Given the description of an element on the screen output the (x, y) to click on. 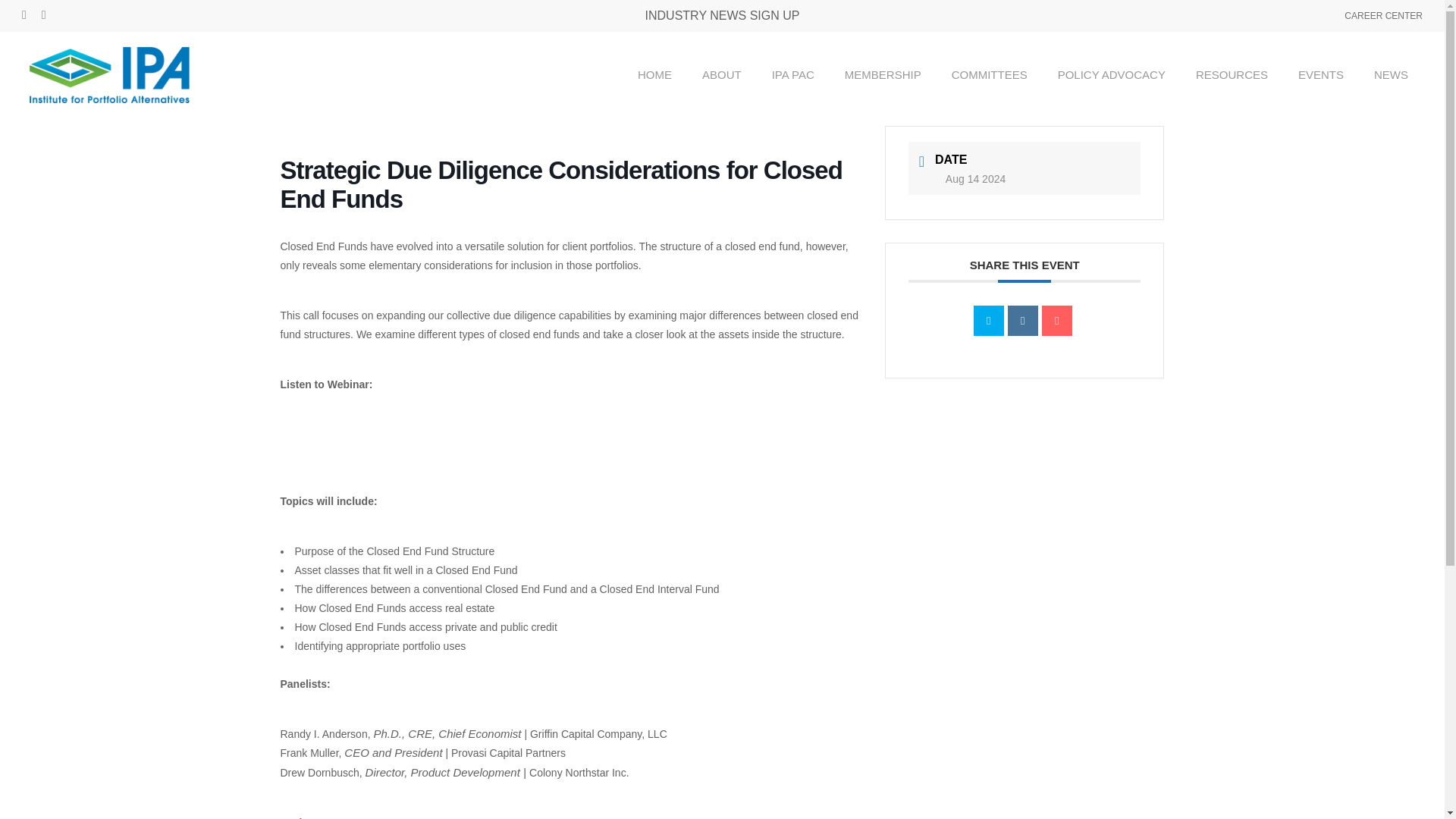
MEMBERSHIP (882, 74)
Tweet (989, 320)
IPA PAC (793, 74)
POLICY ADVOCACY (1111, 74)
HOME (655, 74)
Email (1056, 320)
COMMITTEES (989, 74)
Linkedin (1022, 320)
CAREER CENTER (1382, 15)
INDUSTRY NEWS SIGN UP (722, 15)
